Given the description of an element on the screen output the (x, y) to click on. 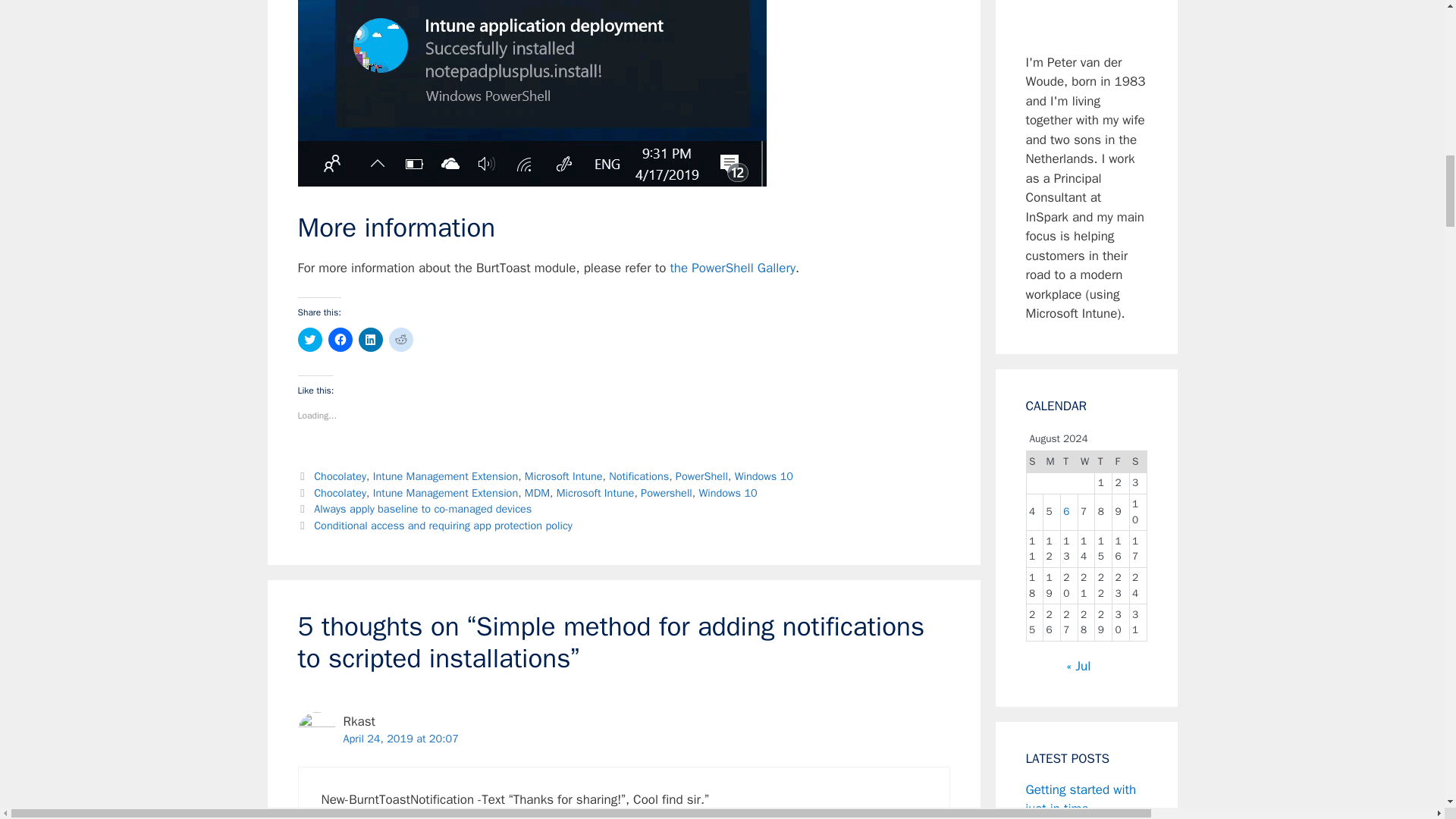
MDM (537, 492)
Always apply baseline to co-managed devices (422, 508)
Chocolatey (340, 492)
Windows 10 (764, 476)
Click to share on LinkedIn (369, 339)
Click to share on Twitter (309, 339)
Intune Management Extension (445, 476)
Notifications (638, 476)
Click to share on Facebook (339, 339)
Powershell (666, 492)
